Given the description of an element on the screen output the (x, y) to click on. 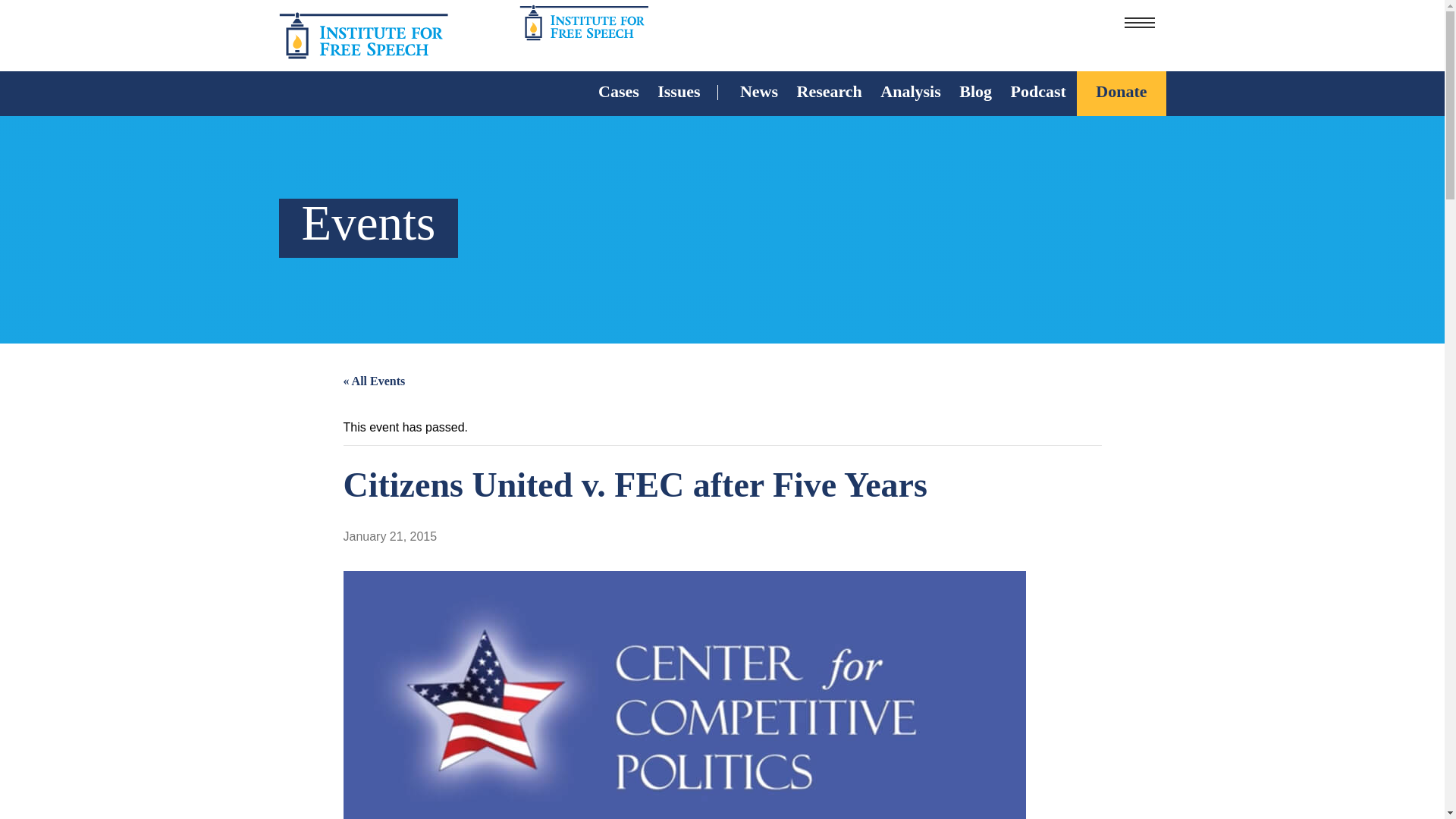
Donate (1121, 93)
Analysis (909, 93)
Blog (975, 93)
Issues (678, 93)
Research (829, 93)
Podcast (1038, 93)
Cases (618, 93)
News (759, 93)
